Given the description of an element on the screen output the (x, y) to click on. 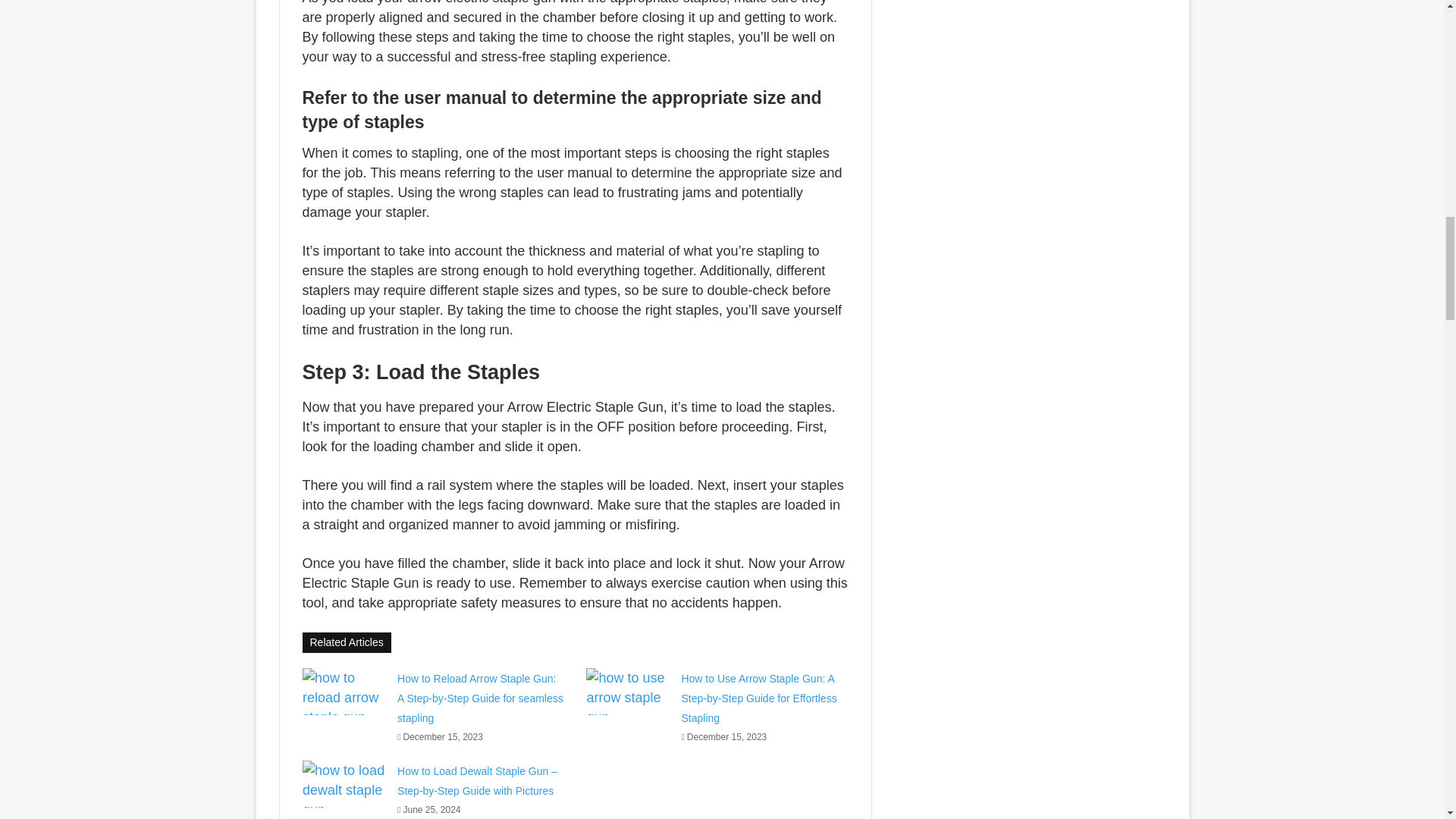
how to load dewalt staple gun (343, 783)
how to use arrow staple gun (627, 691)
how to reload arrow staple gun (343, 691)
